Given the description of an element on the screen output the (x, y) to click on. 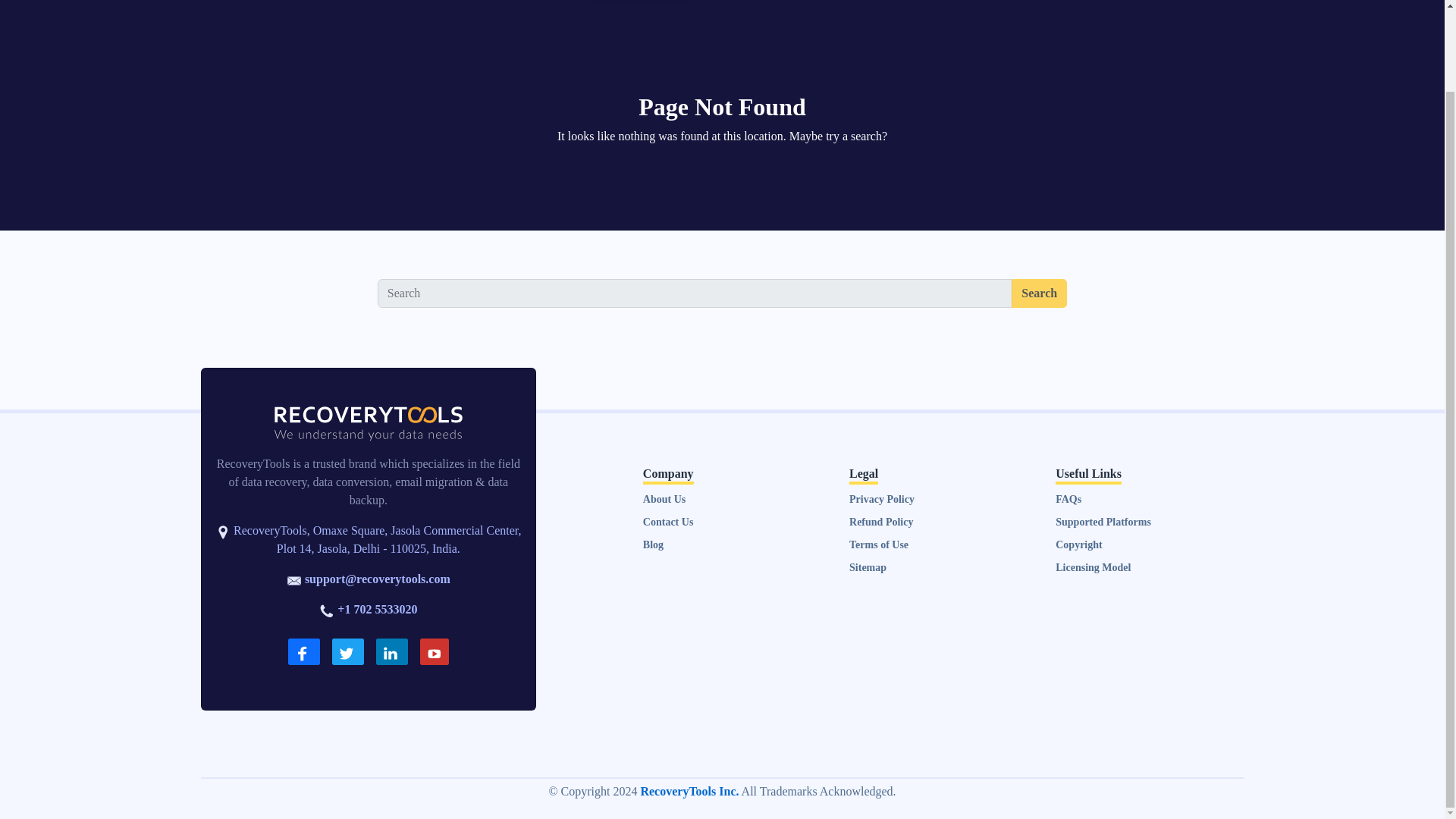
Contact Us (668, 521)
FAQs (1068, 499)
About Us (664, 499)
Terms of Use (878, 544)
Sitemap (867, 567)
Search (1039, 293)
Refund Policy (880, 521)
RecoveryTools Inc. (689, 790)
Privacy Policy (881, 499)
Supported Platforms (1103, 521)
Licensing Model (1093, 567)
Blog (653, 544)
Copyright (1078, 544)
